Given the description of an element on the screen output the (x, y) to click on. 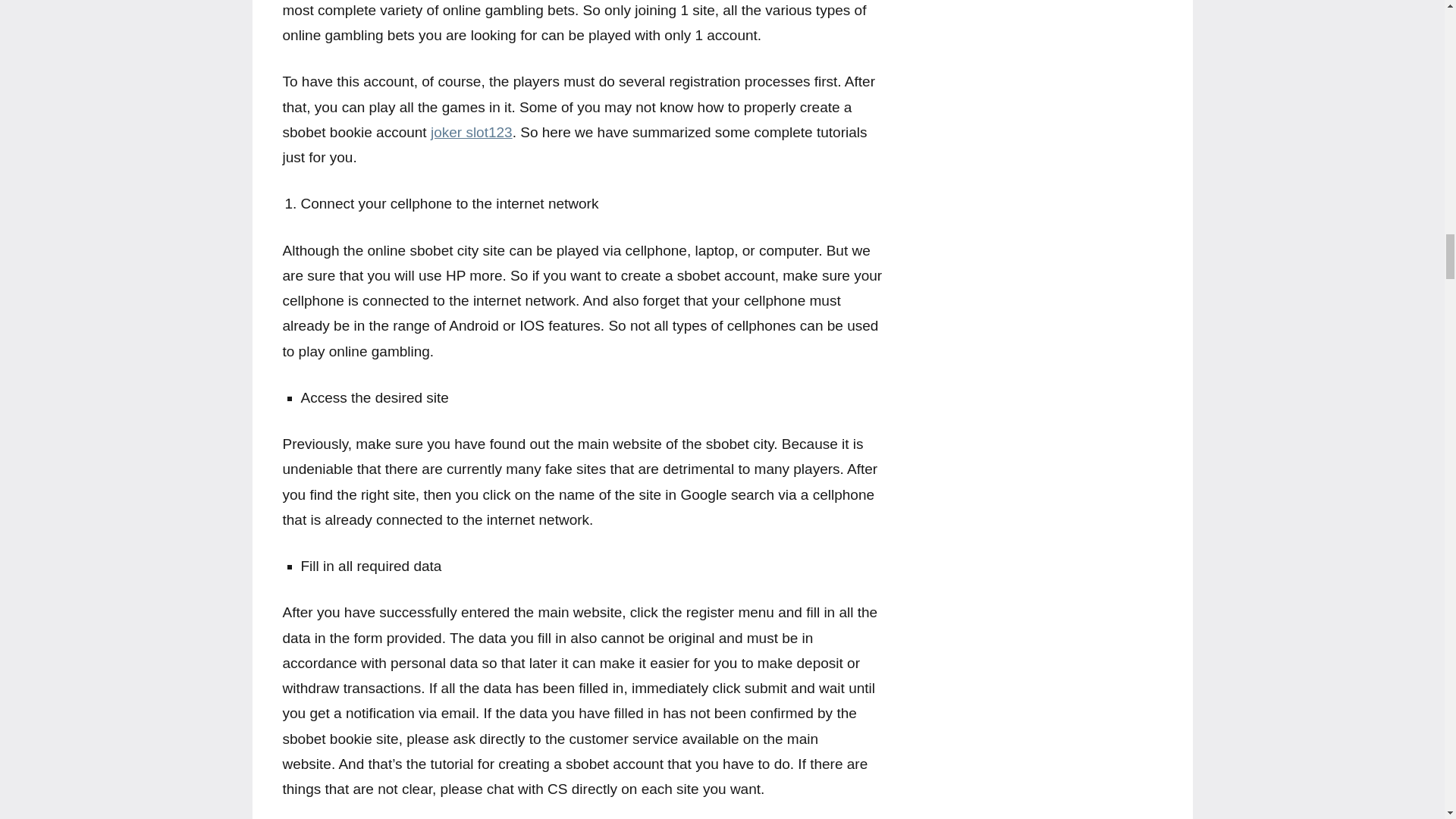
joker slot123 (471, 132)
